Given the description of an element on the screen output the (x, y) to click on. 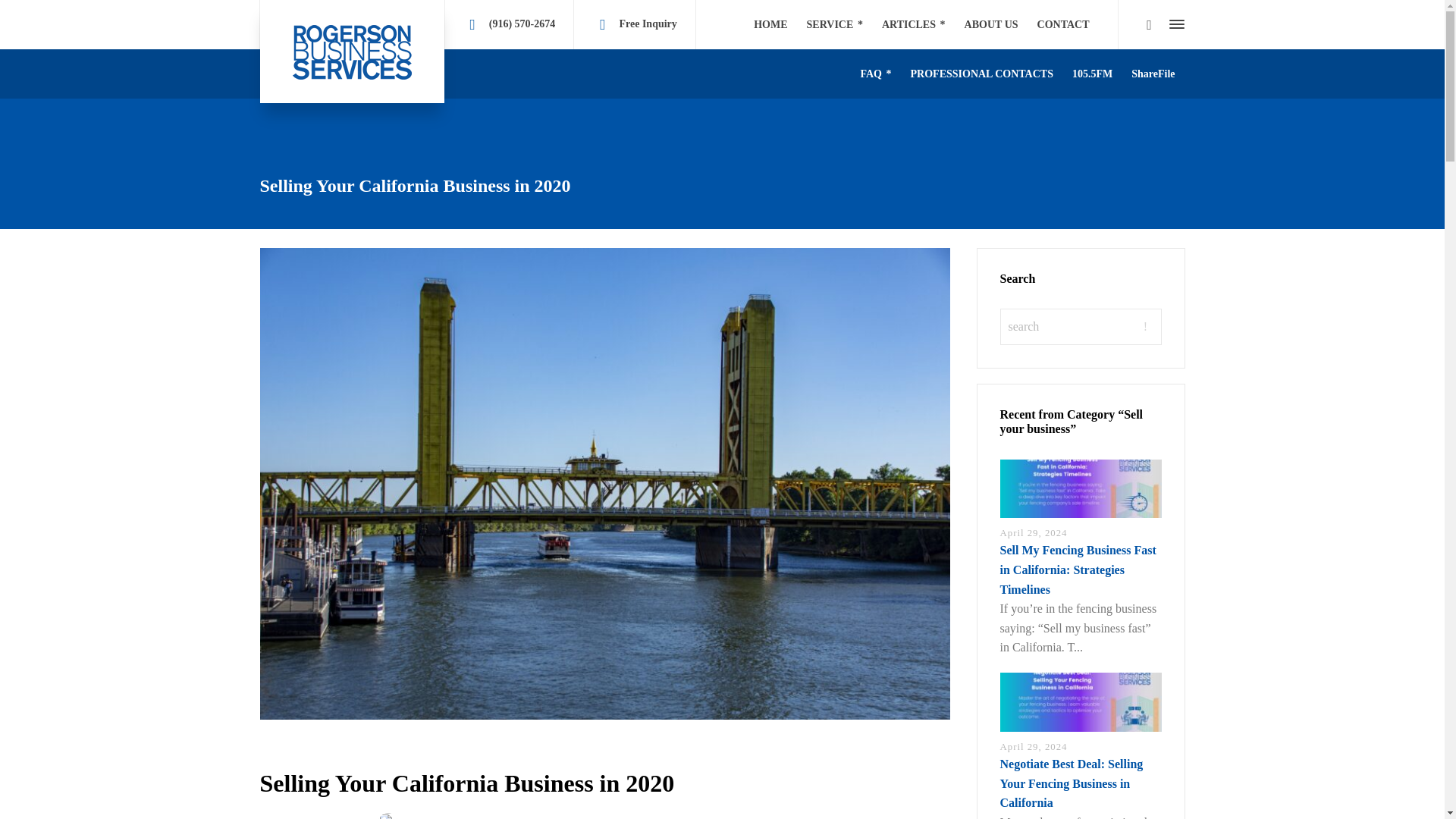
CONTACT (1063, 24)
ABOUT US (991, 24)
ARTICLES (913, 24)
click to call (522, 23)
Free Inquiry (647, 23)
HOME (770, 24)
SERVICE (834, 24)
PROFESSIONAL CONTACTS (981, 73)
105.5FM (1092, 73)
FAQ (875, 73)
ShareFile (1153, 73)
